Given the description of an element on the screen output the (x, y) to click on. 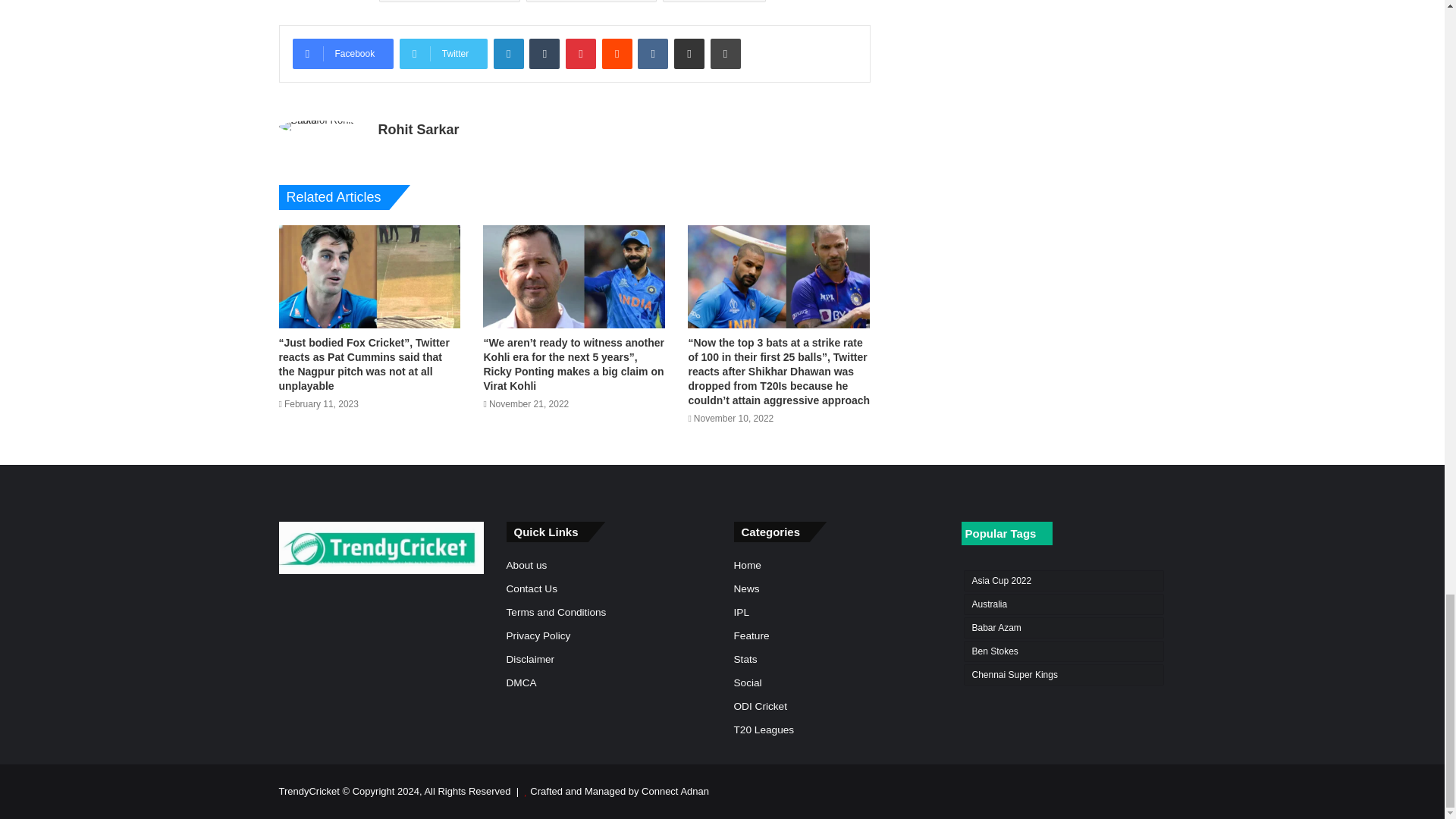
Indian cricket team (448, 1)
Umran Malik (713, 1)
Facebook (343, 53)
Sanjay Manjrekar (591, 1)
